Given the description of an element on the screen output the (x, y) to click on. 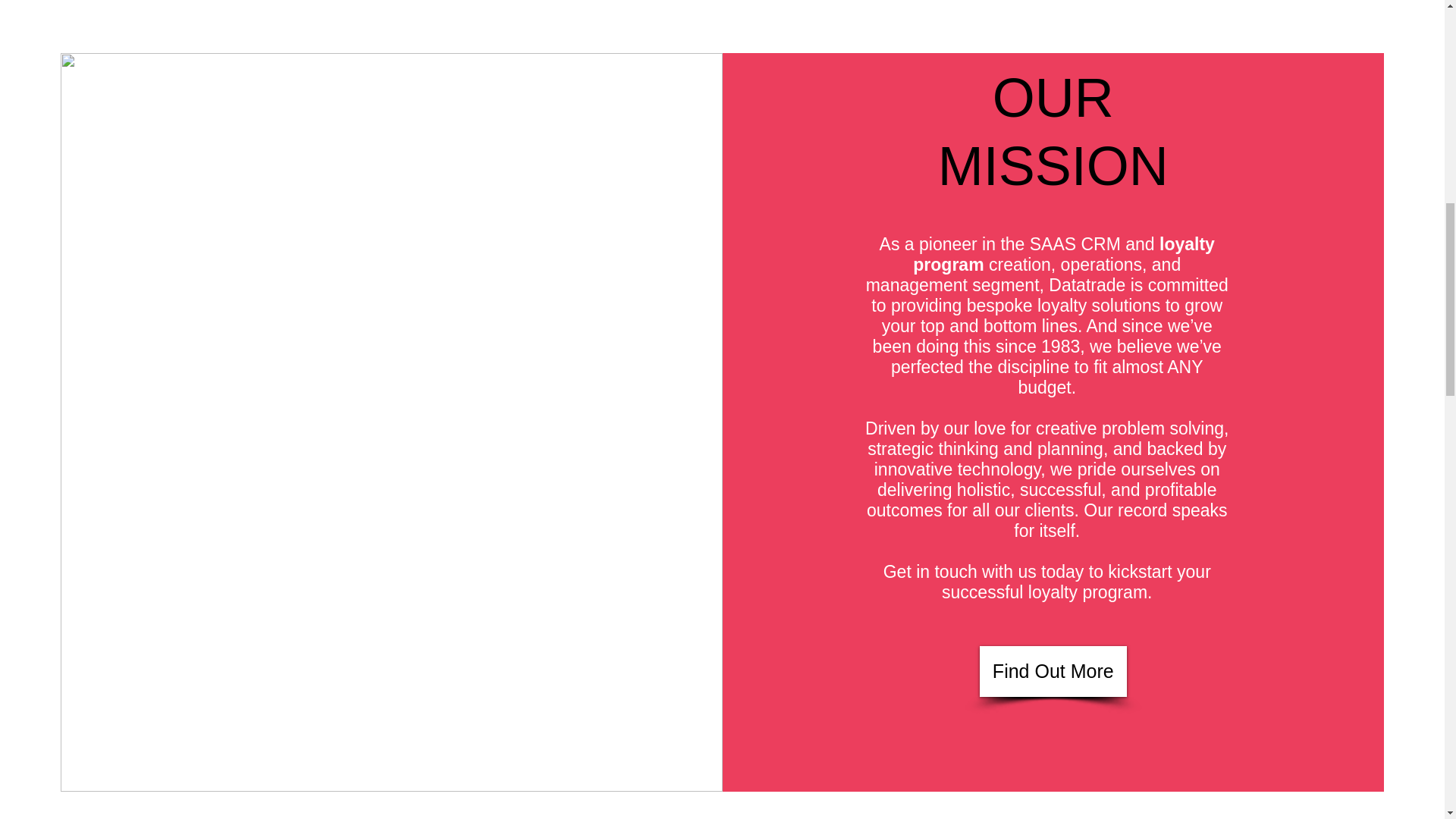
Find Out More (1052, 671)
